Given the description of an element on the screen output the (x, y) to click on. 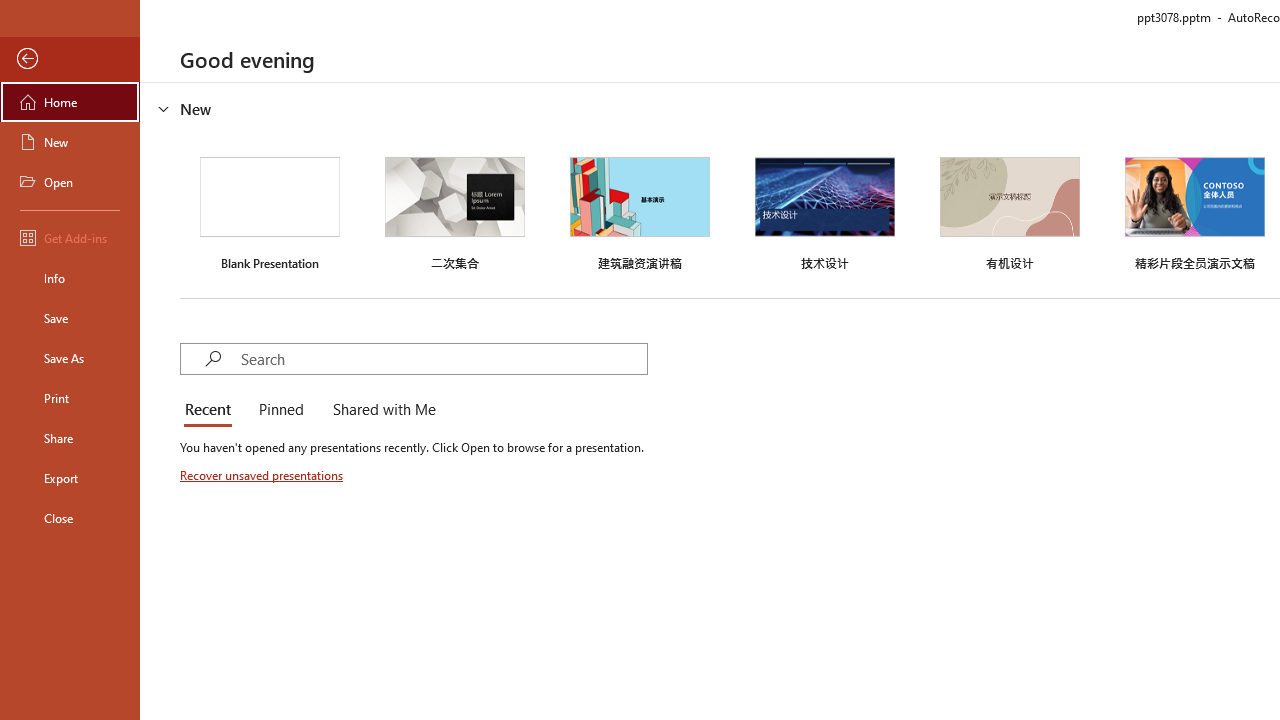
Pinned (280, 410)
Get Add-ins (69, 237)
Shared with Me (379, 410)
Hide or show region (164, 108)
Save As (69, 357)
